Given the description of an element on the screen output the (x, y) to click on. 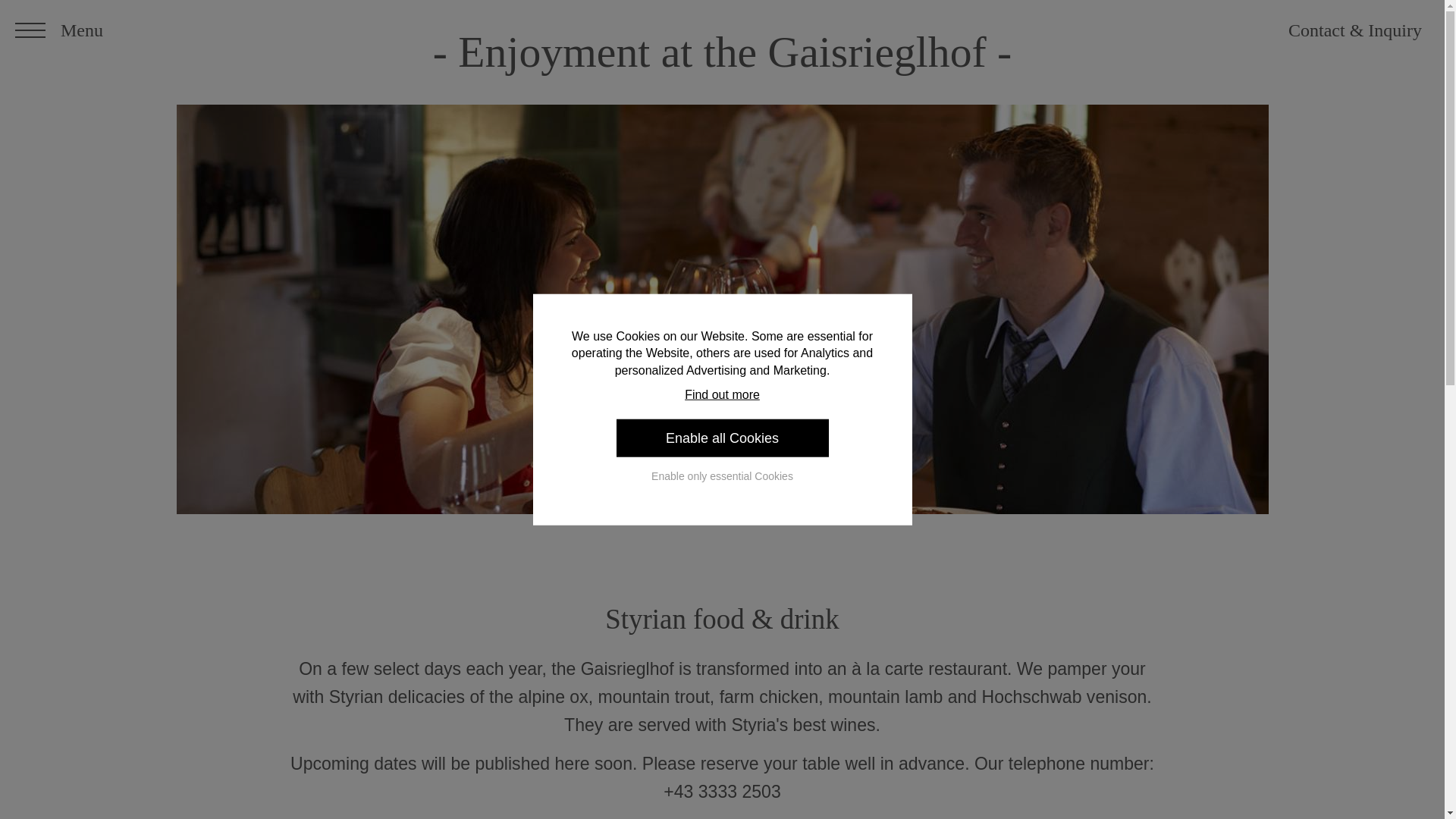
Menu (58, 30)
